Given the description of an element on the screen output the (x, y) to click on. 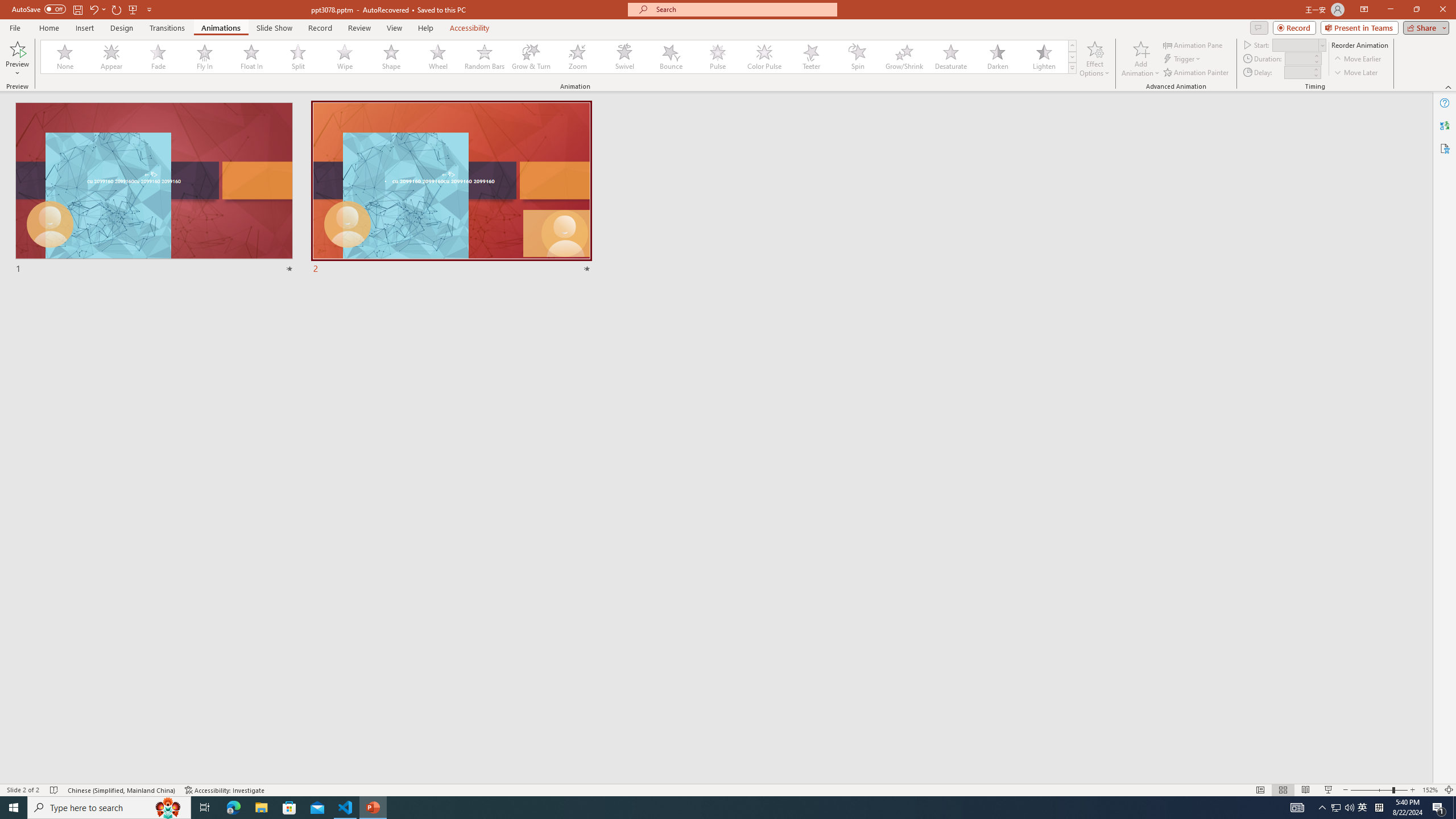
Darken (997, 56)
